Given the description of an element on the screen output the (x, y) to click on. 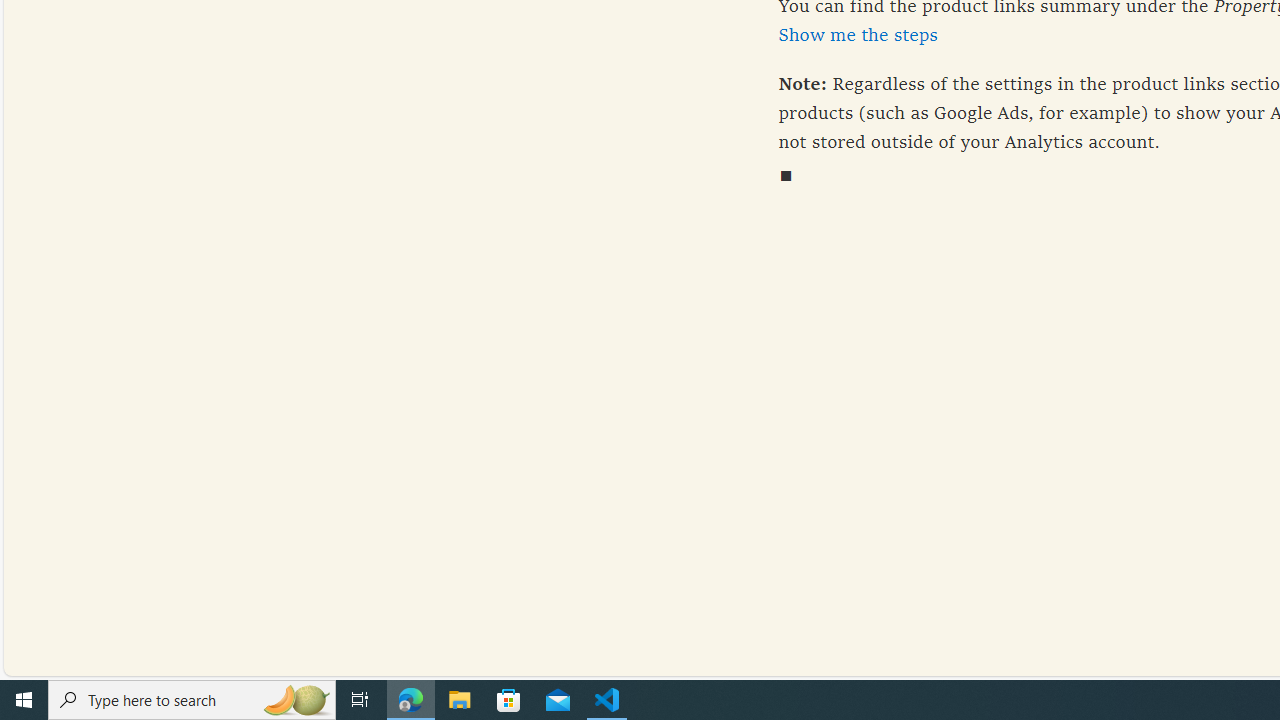
Show me the steps (858, 34)
